Given the description of an element on the screen output the (x, y) to click on. 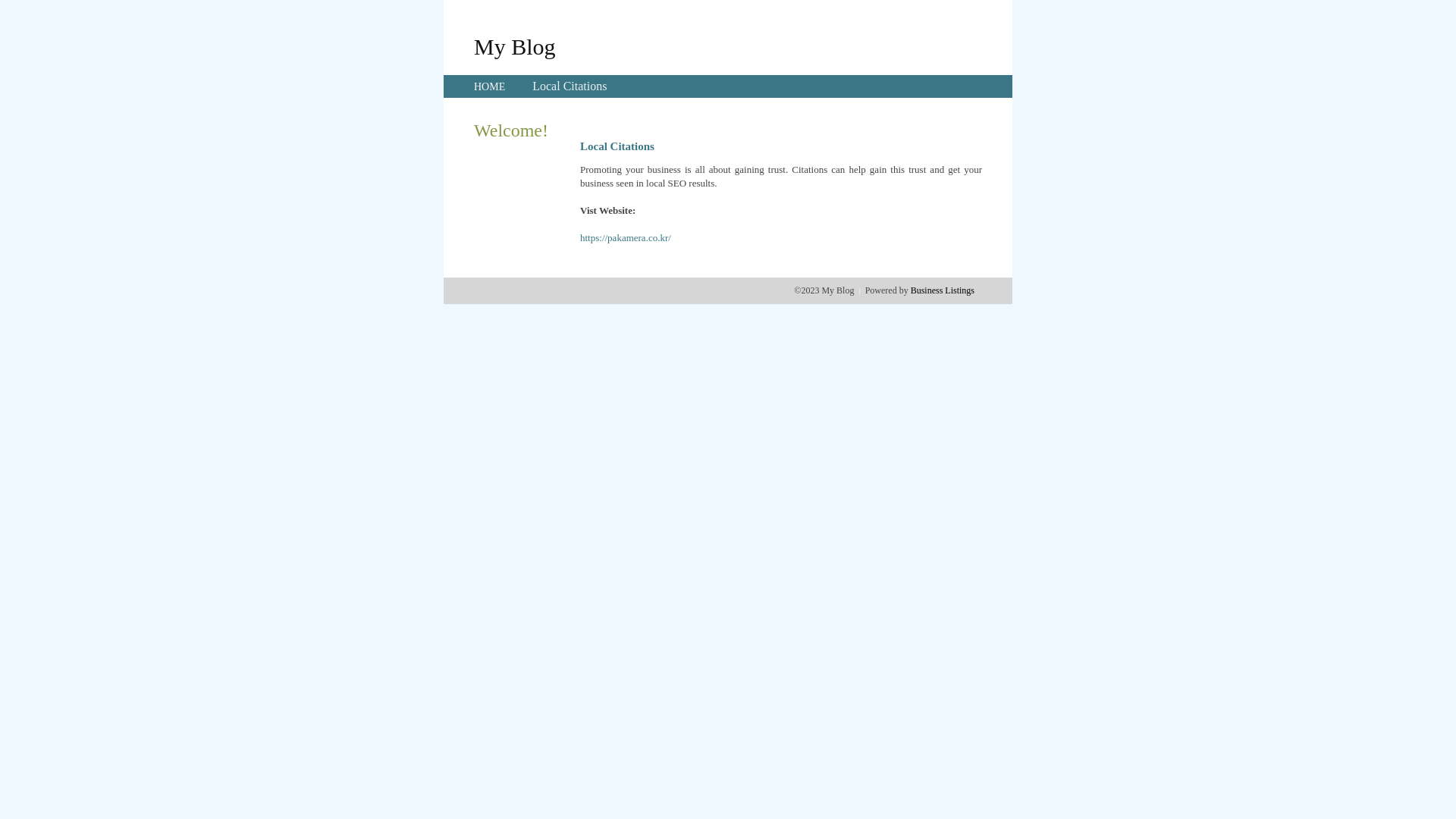
HOME Element type: text (489, 86)
My Blog Element type: text (514, 46)
https://pakamera.co.kr/ Element type: text (625, 237)
Local Citations Element type: text (569, 85)
Business Listings Element type: text (942, 290)
